Given the description of an element on the screen output the (x, y) to click on. 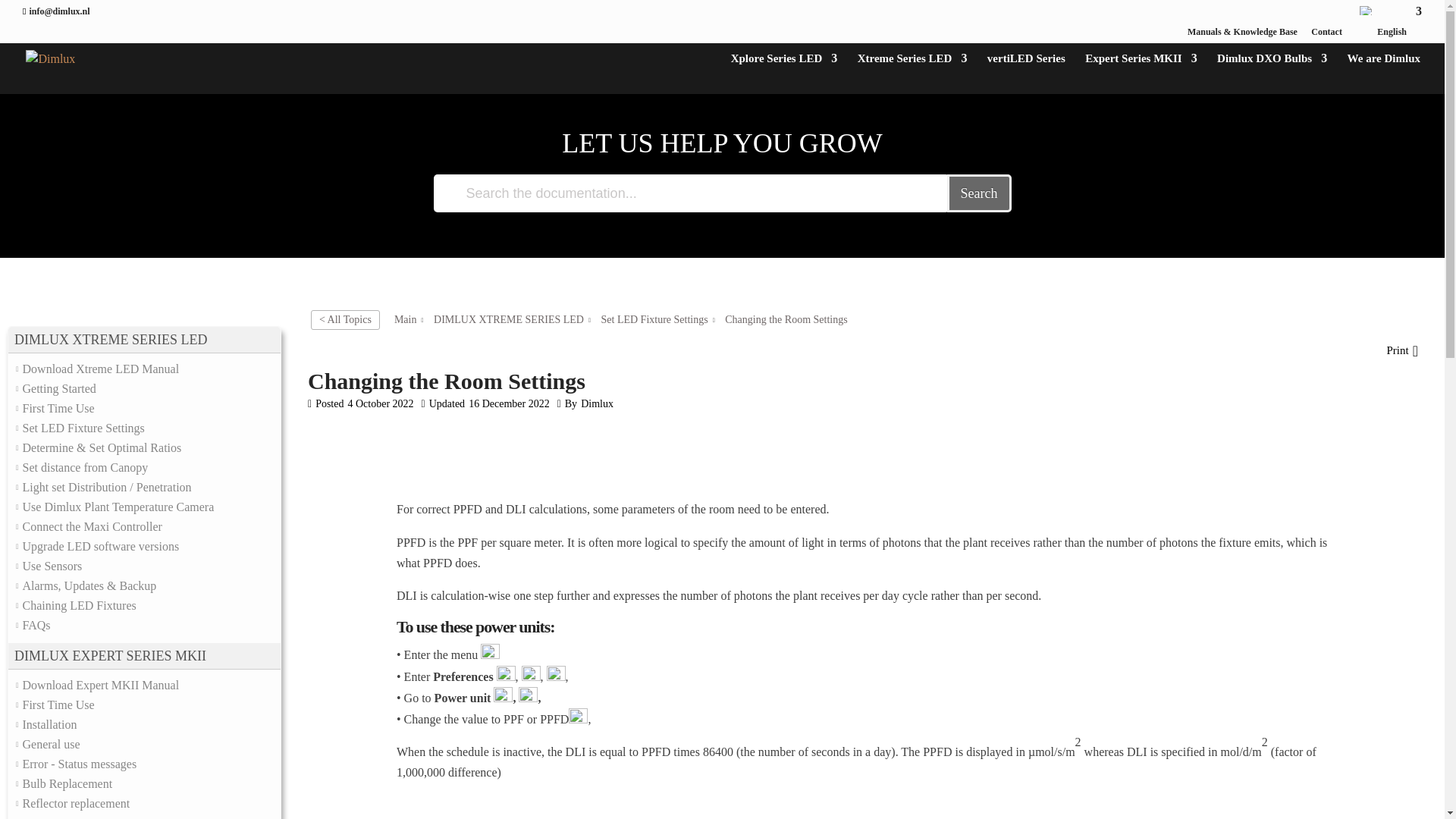
vertiLED Series (1026, 73)
Dimlux DXO Bulbs (1271, 73)
English (1388, 24)
Search (979, 193)
Expert Series MKII (1140, 73)
English (1366, 10)
Xplore Series LED (784, 73)
Contact (1326, 35)
Download Xtreme LED Manual (101, 369)
Getting Started (59, 388)
Xtreme Series LED (912, 73)
We are Dimlux (1384, 73)
